Given the description of an element on the screen output the (x, y) to click on. 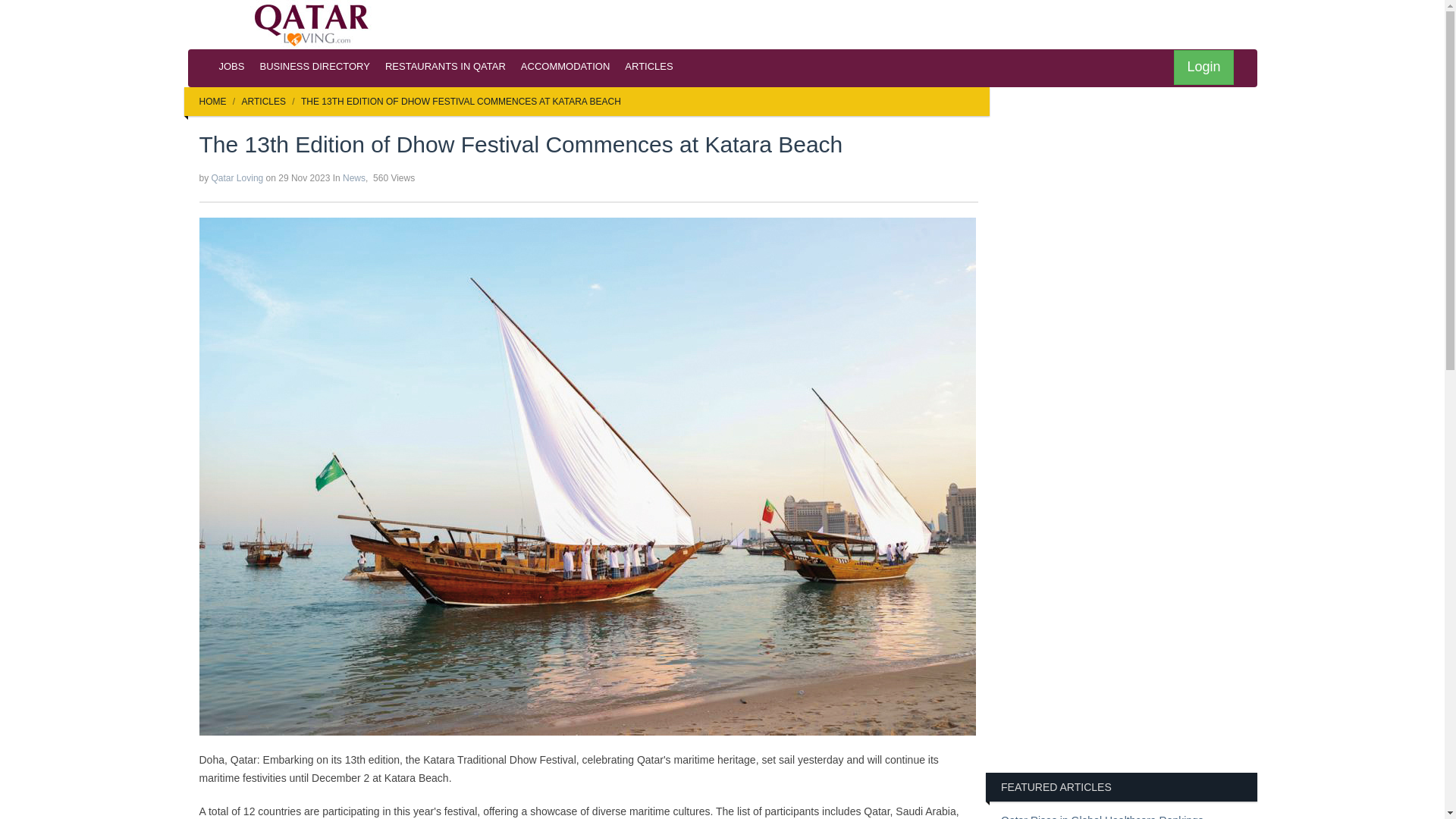
Login (1203, 67)
JOBS (231, 66)
HOME (211, 101)
News (353, 177)
THE 13TH EDITION OF DHOW FESTIVAL COMMENCES AT KATARA BEACH (461, 101)
ACCOMMODATION (565, 66)
BUSINESS DIRECTORY (314, 66)
ARTICLES (263, 101)
ARTICLES (648, 66)
RESTAURANTS IN QATAR (445, 66)
The 13th Edition of Dhow Festival Commences at Katara Beach (454, 101)
Advertisement (1128, 661)
Qatar Loving (237, 177)
